Given the description of an element on the screen output the (x, y) to click on. 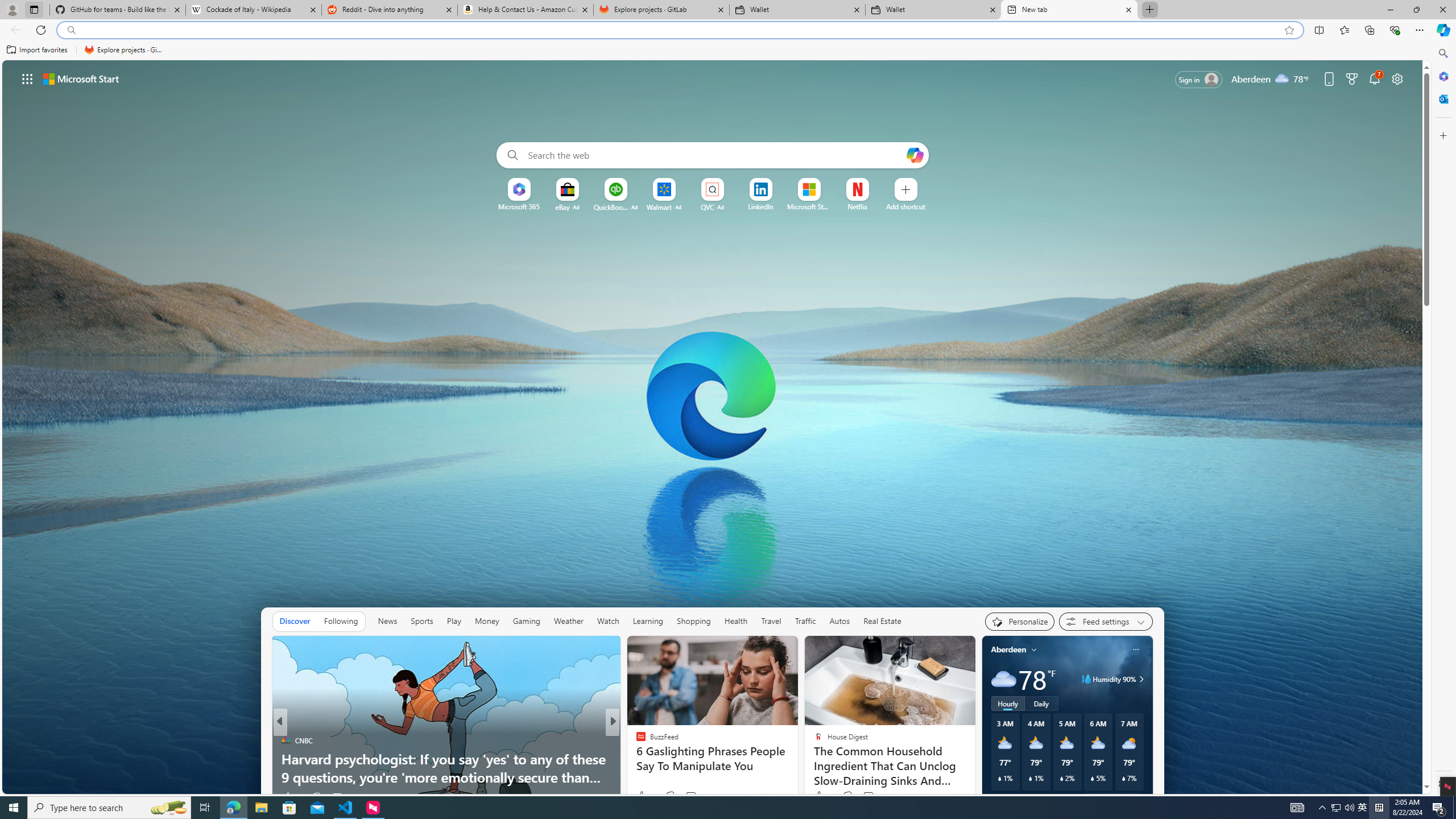
App launcher (27, 78)
Microsoft start (81, 78)
Shopping (693, 621)
View comments 66 Comment (687, 797)
View comments 2 Comment (691, 797)
USA TODAY (635, 740)
Autos (839, 621)
Boeing faces another headwind after LATAM Airlines plunge (796, 767)
